Given the description of an element on the screen output the (x, y) to click on. 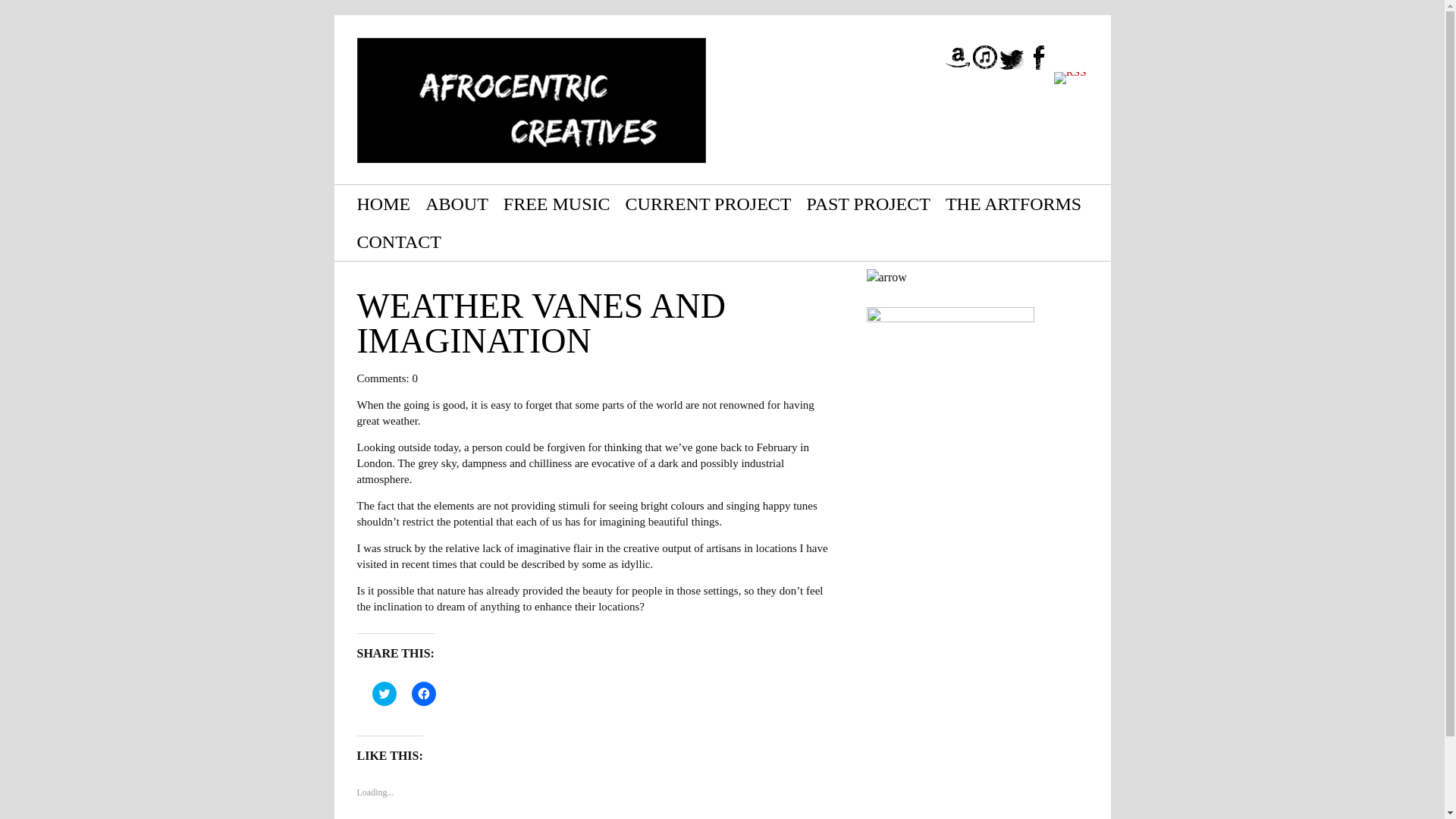
CONTACT (398, 241)
FREE MUSIC (556, 203)
ABOUT (456, 203)
Afrocentric Creatives (530, 99)
Permanent Link to Weather vanes and imagination (540, 323)
HOME (383, 203)
WEATHER VANES AND IMAGINATION (540, 323)
Click to share on Twitter (383, 693)
THE ARTFORMS (1013, 203)
PAST PROJECT (867, 203)
